Given the description of an element on the screen output the (x, y) to click on. 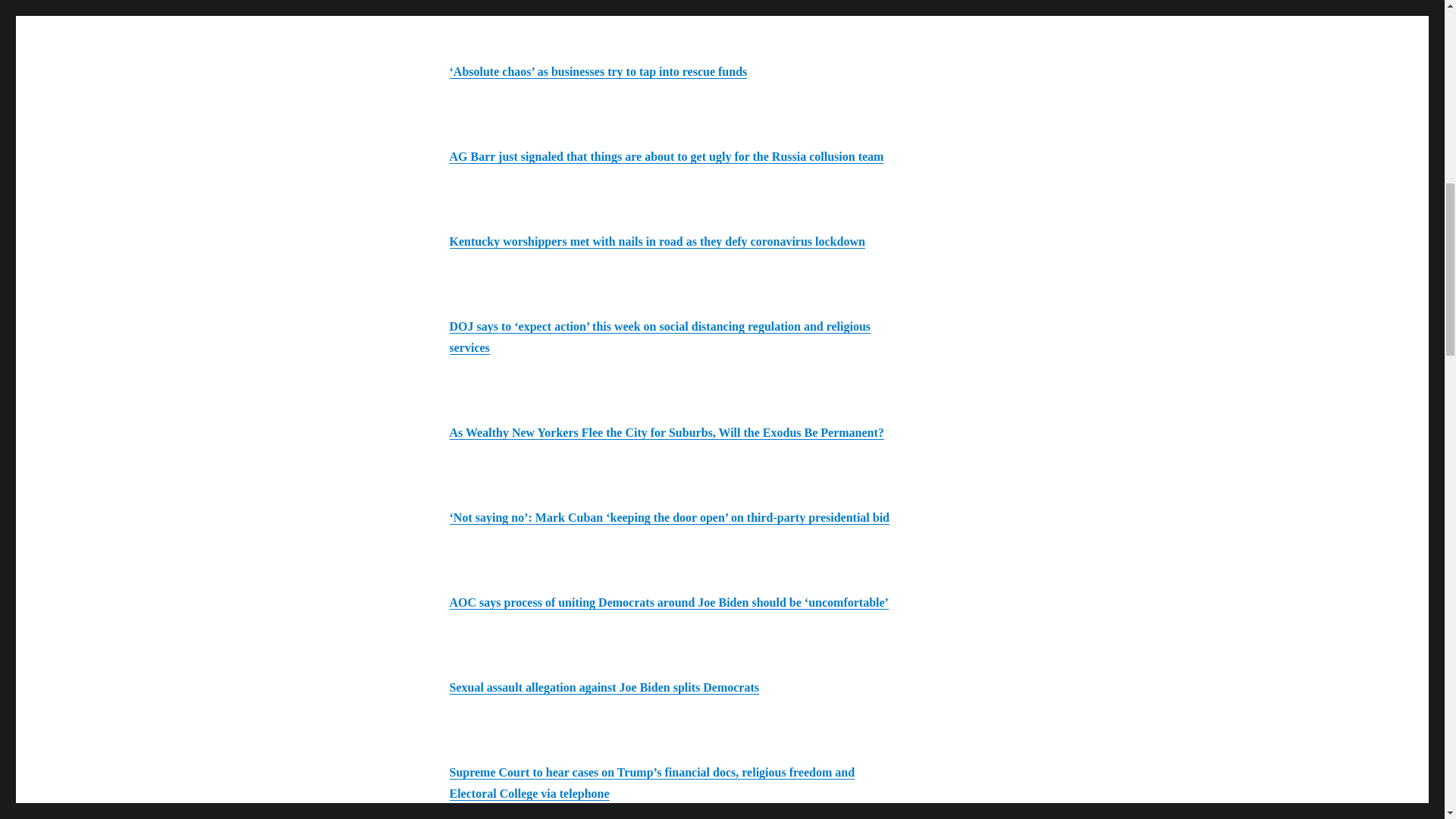
Sexual assault allegation against Joe Biden splits Democrats (603, 686)
